Given the description of an element on the screen output the (x, y) to click on. 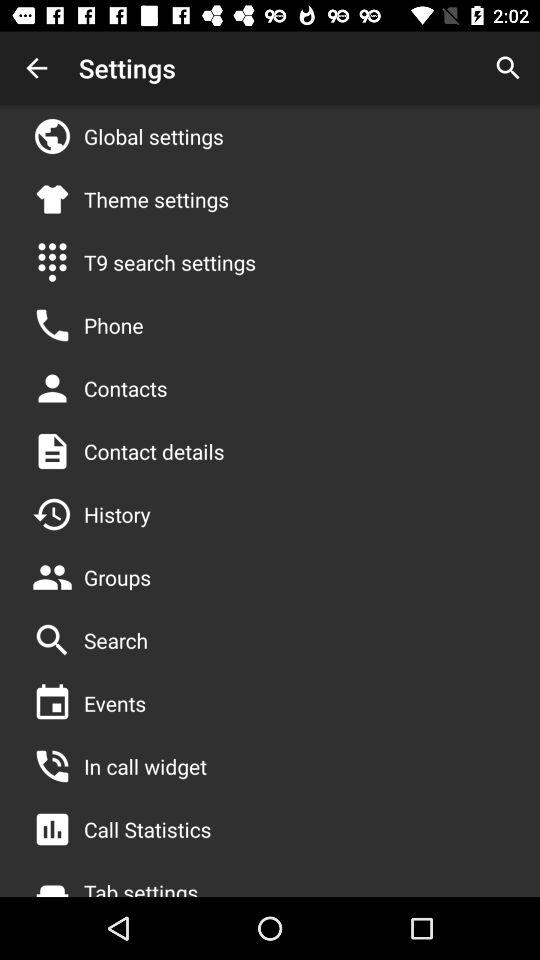
open the groups icon (117, 577)
